Given the description of an element on the screen output the (x, y) to click on. 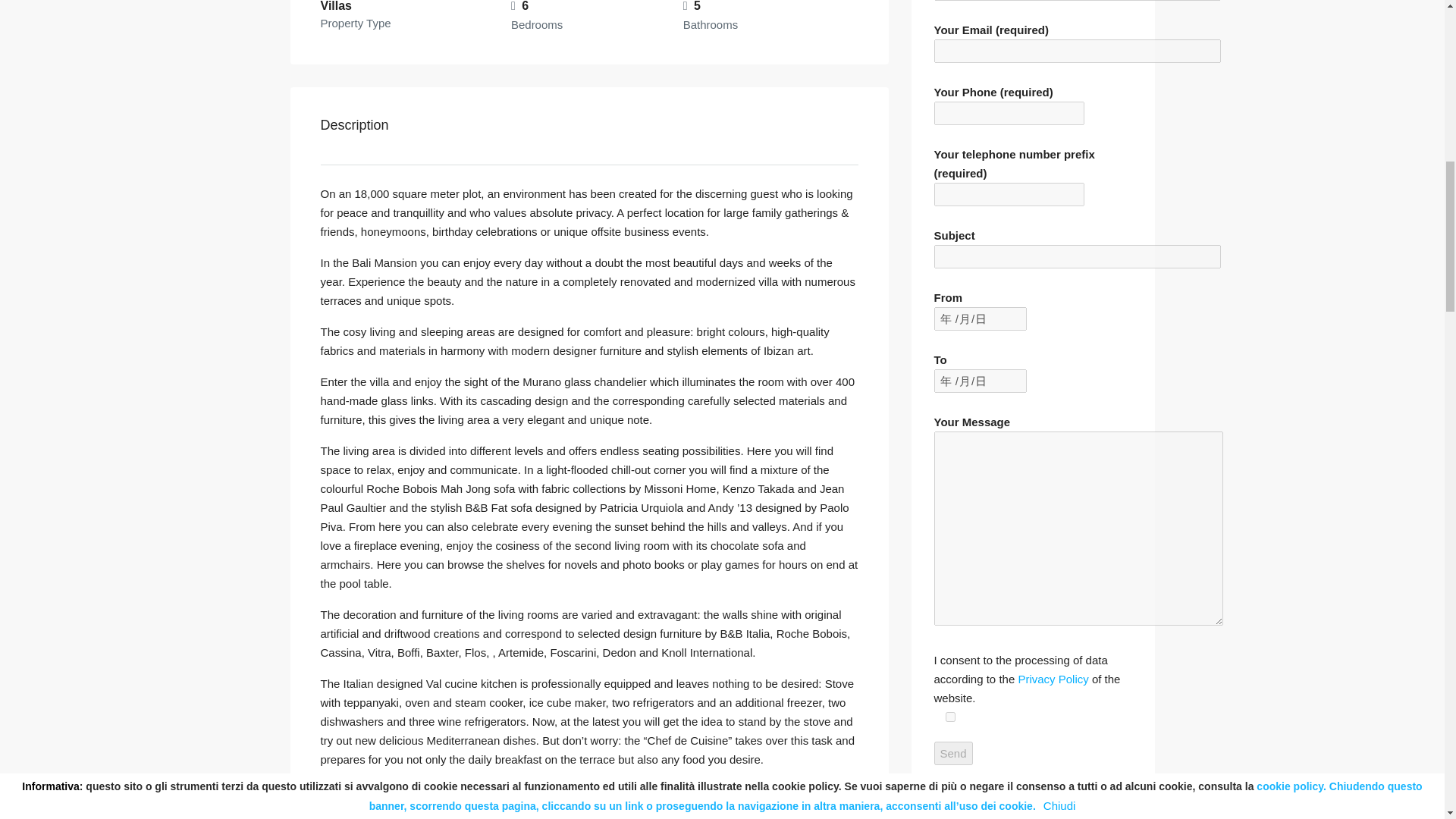
Send (953, 753)
1 (949, 716)
